Given the description of an element on the screen output the (x, y) to click on. 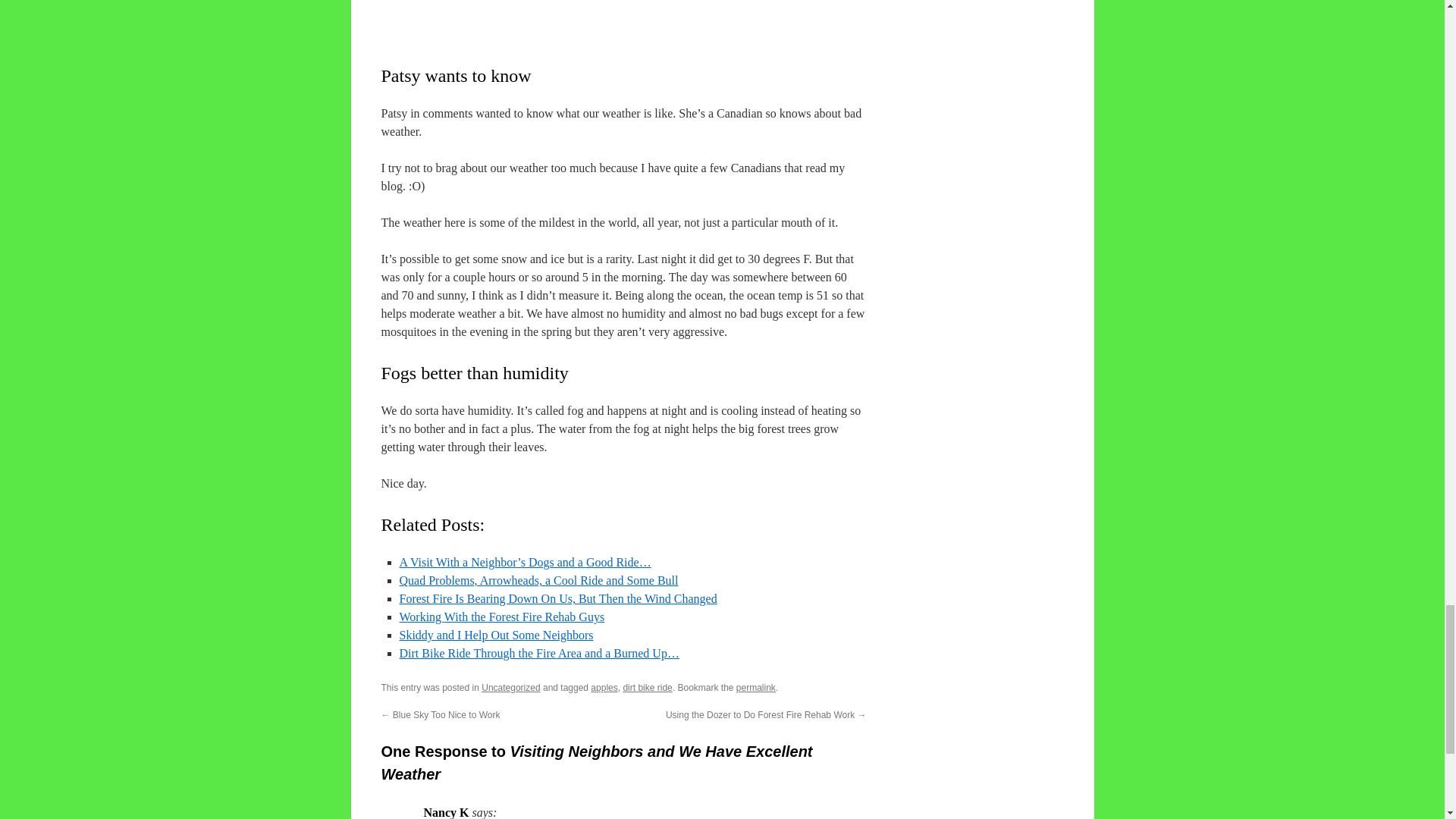
dirt bike ride (647, 687)
Uncategorized (510, 687)
Forest Fire Is Bearing Down On Us, But Then the Wind Changed (557, 598)
Skiddy and I Help Out Some Neighbors (495, 634)
Quad Problems, Arrowheads, a Cool Ride and Some Bull (538, 580)
permalink (756, 687)
apples (604, 687)
Working With the Forest Fire Rehab Guys (501, 616)
